Given the description of an element on the screen output the (x, y) to click on. 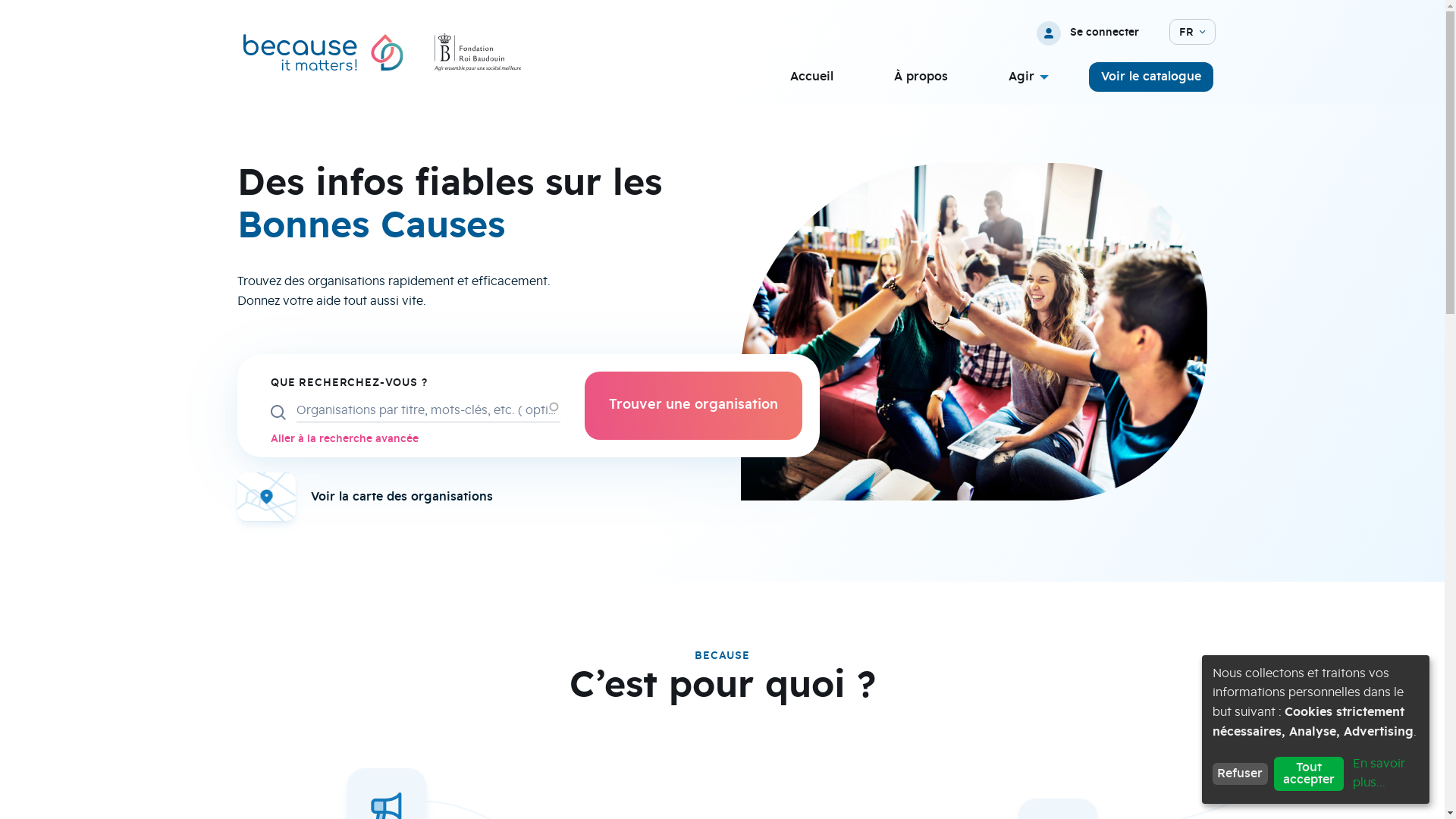
Skip to main content Element type: text (0, 0)
Accueil Element type: text (811, 77)
Skip to main content Element type: text (0, 102)
Refuser Element type: text (1239, 773)
Voir le catalogue Element type: text (1150, 77)
Voir la carte des organisations Element type: text (401, 496)
Se connecter Element type: text (1092, 32)
Trouver une organisation Element type: text (693, 405)
En savoir plus... Element type: text (1383, 773)
Tout accepter Element type: text (1309, 773)
Agir Element type: text (1024, 77)
Lien vers la carte de l'organisation Element type: text (488, 496)
